Given the description of an element on the screen output the (x, y) to click on. 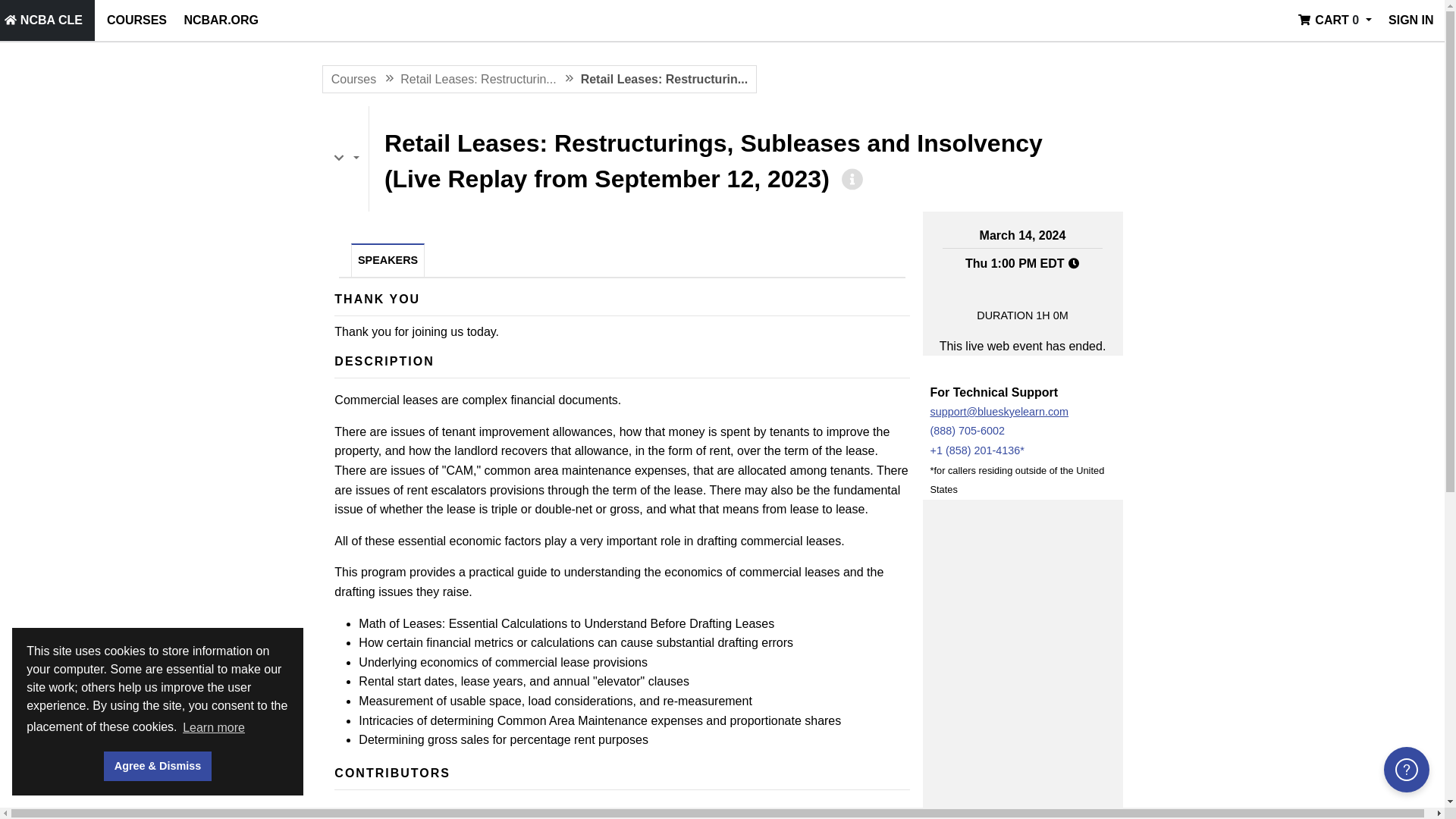
Courses (136, 20)
Retail Leases: Restructurin... (478, 78)
NCBA CLE (43, 20)
SIGN IN (1411, 20)
Learn more (213, 726)
NCBA CLE (43, 20)
NCBAR.ORG (221, 20)
SPEAKERS (387, 260)
COURSES (136, 20)
CART 0 (1335, 20)
Courses (354, 78)
